Given the description of an element on the screen output the (x, y) to click on. 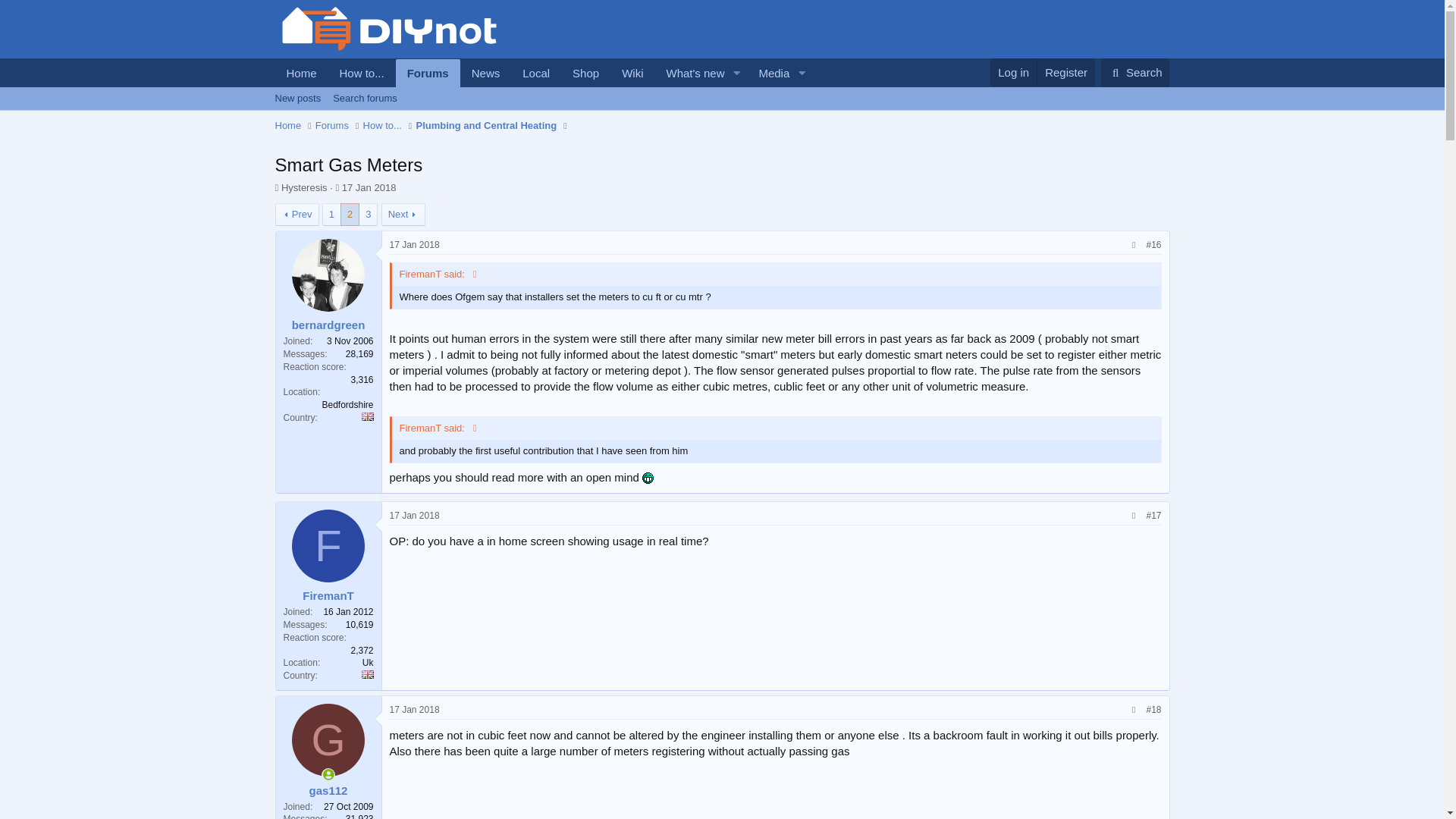
Media (542, 89)
What's new (768, 72)
Shop (689, 72)
Log in (720, 115)
Wiki (585, 72)
Mr Green    :mrgreen: (1013, 72)
17 Jan 2018 at 8:54 PM (631, 72)
Local (647, 478)
